Given the description of an element on the screen output the (x, y) to click on. 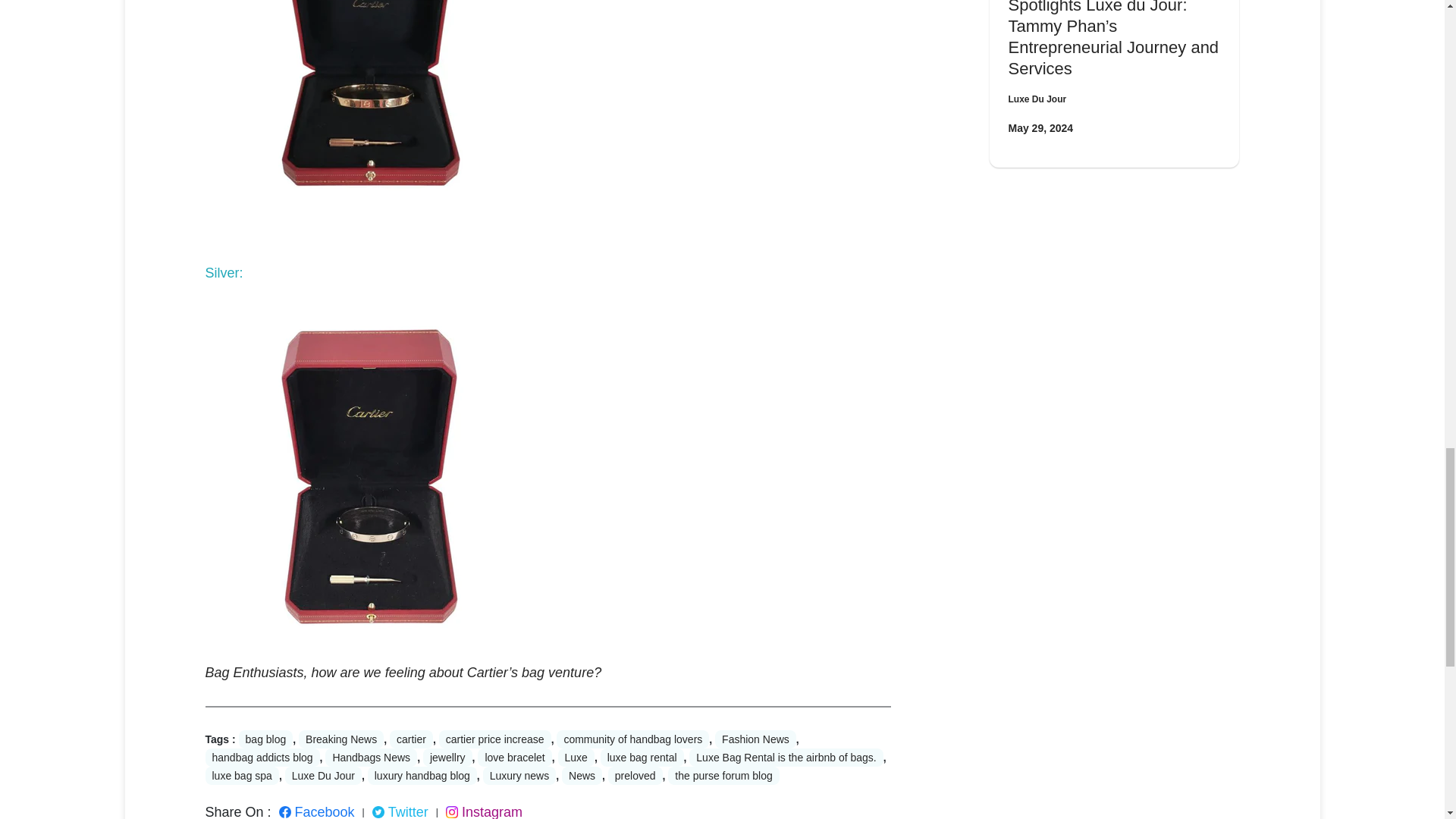
the purse forum blog (723, 775)
News (582, 775)
luxe bag rental (641, 757)
jewellry (447, 757)
Breaking News (341, 739)
Twitter (400, 812)
cartier price increase (495, 739)
cartier (411, 739)
community of handbag lovers (632, 739)
love bracelet (514, 757)
Luxury news (519, 775)
Facebook (317, 812)
bag blog (266, 739)
Instagram (483, 812)
luxury handbag blog (422, 775)
